Given the description of an element on the screen output the (x, y) to click on. 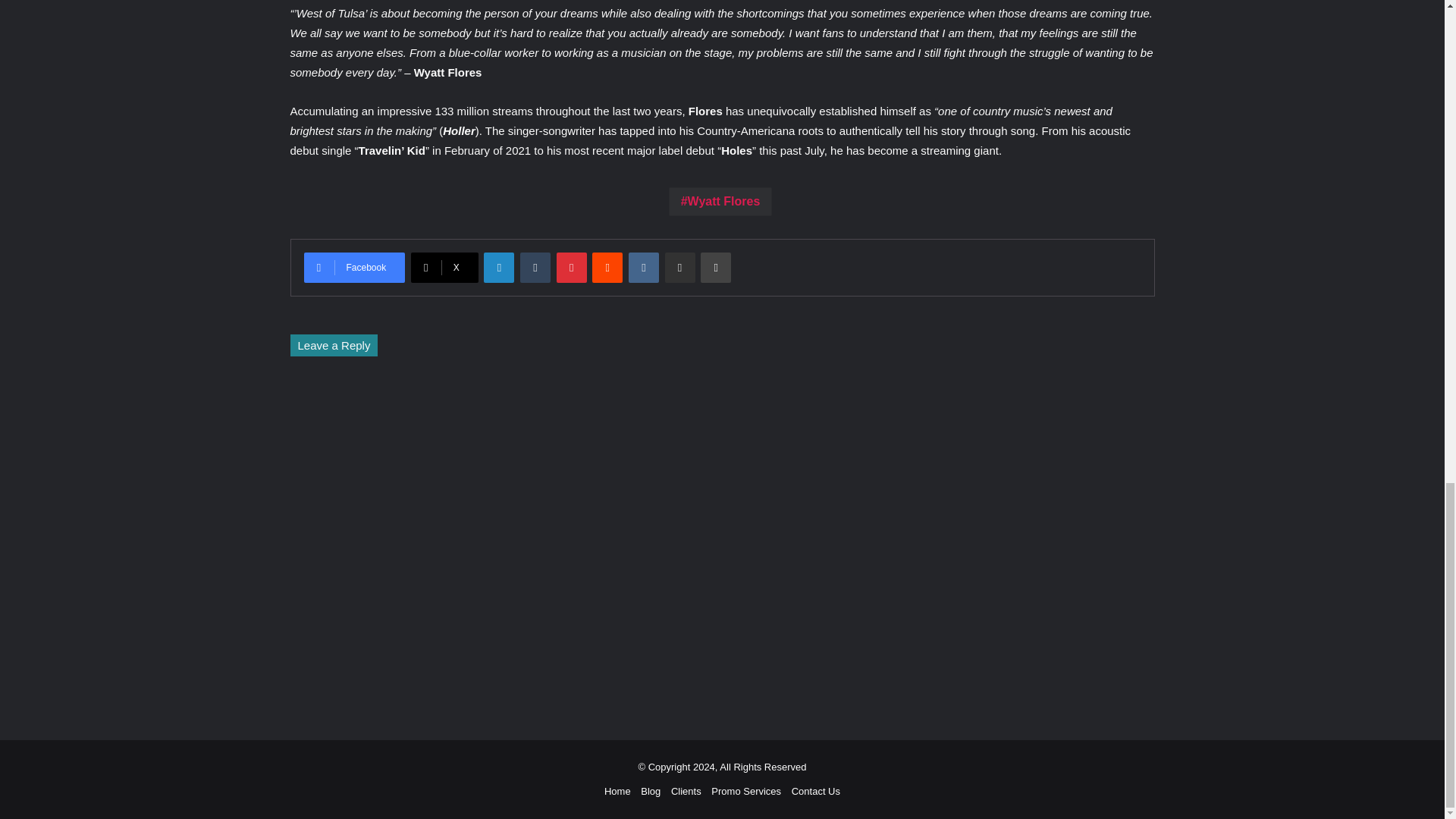
Facebook (353, 267)
Reddit (607, 267)
Pinterest (571, 267)
Print (715, 267)
Contact Us (816, 790)
X (444, 267)
LinkedIn (498, 267)
Pinterest (571, 267)
VKontakte (643, 267)
